Given the description of an element on the screen output the (x, y) to click on. 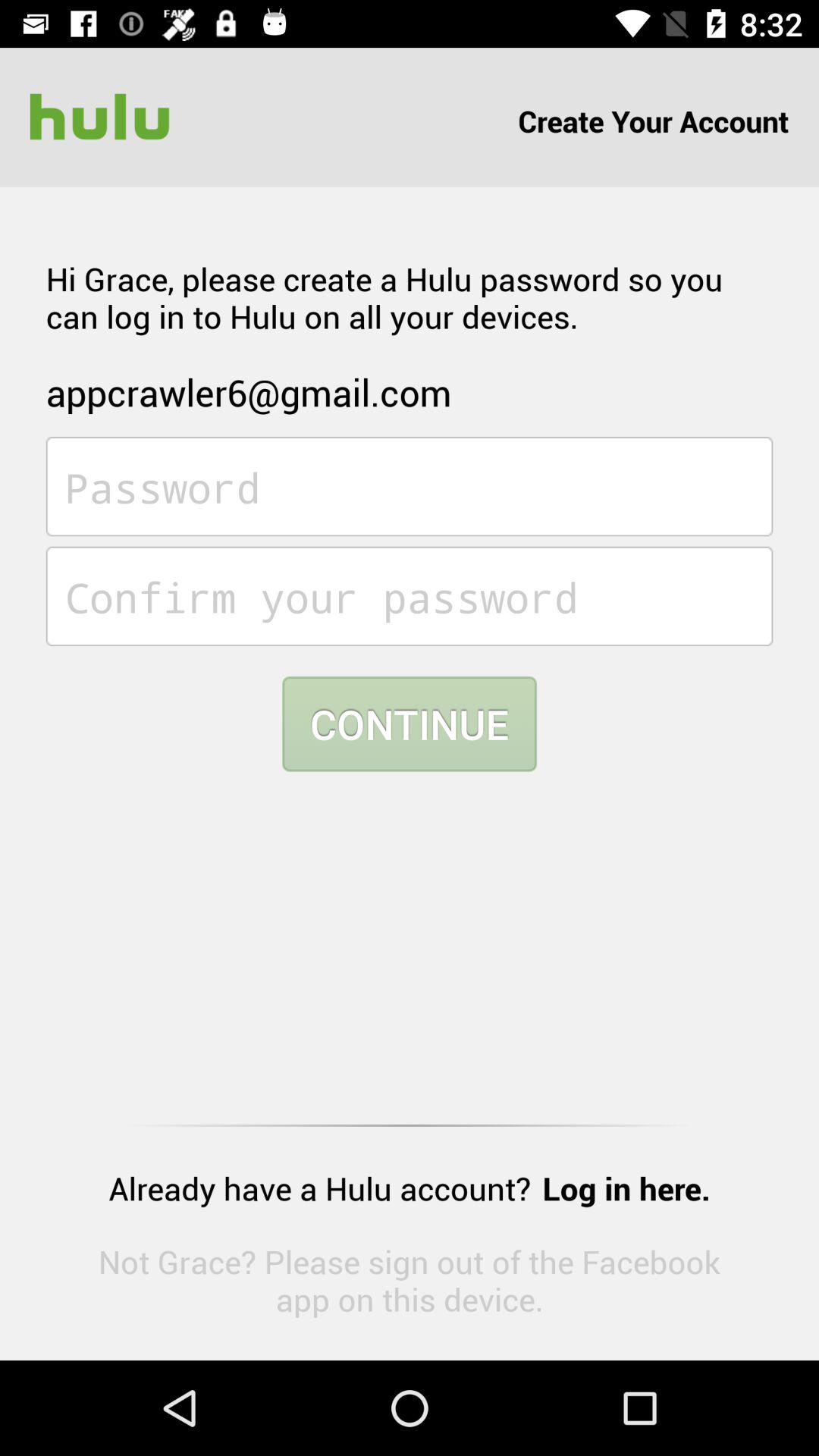
enter password (409, 486)
